Given the description of an element on the screen output the (x, y) to click on. 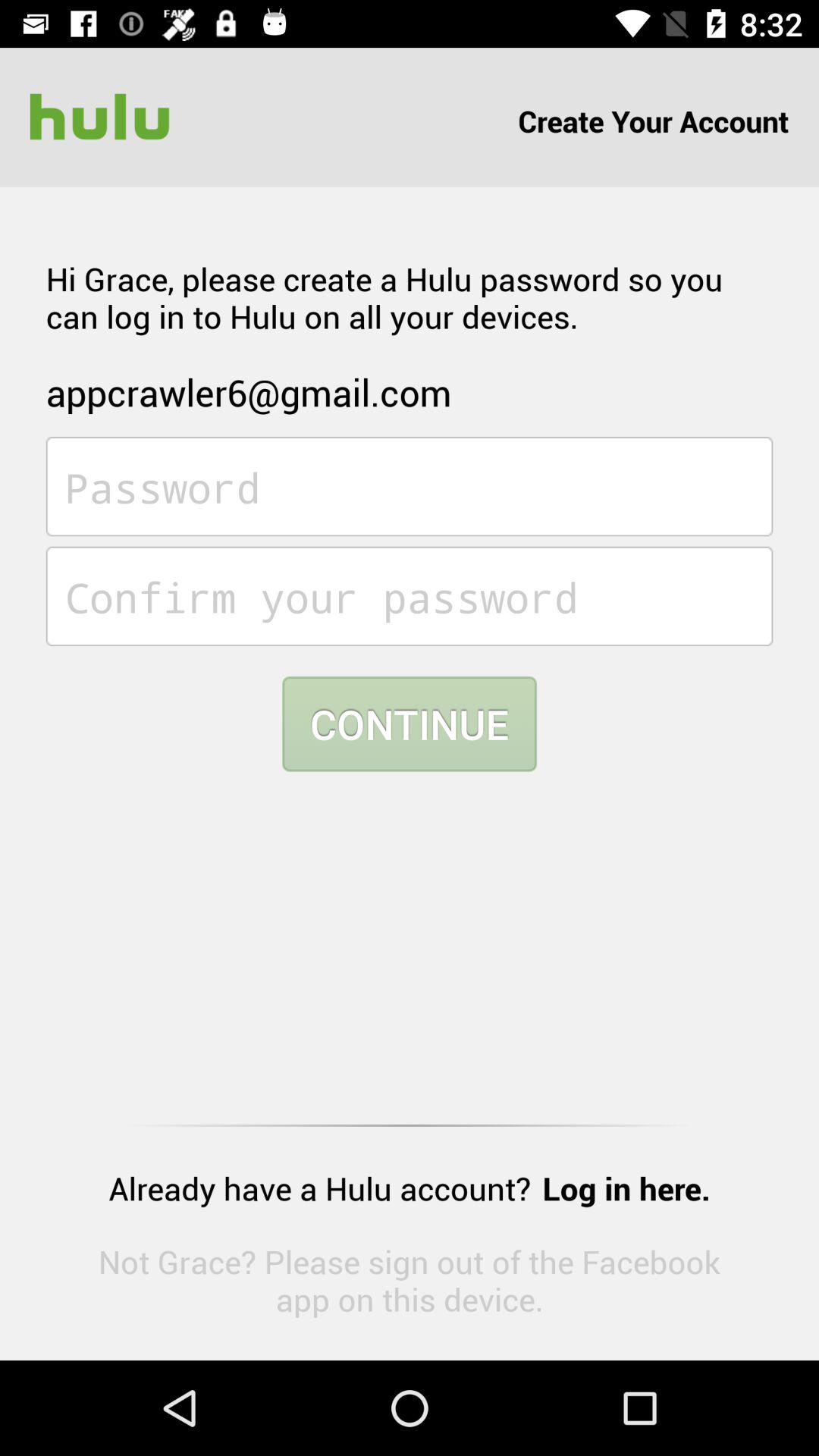
enter password (409, 486)
